Given the description of an element on the screen output the (x, y) to click on. 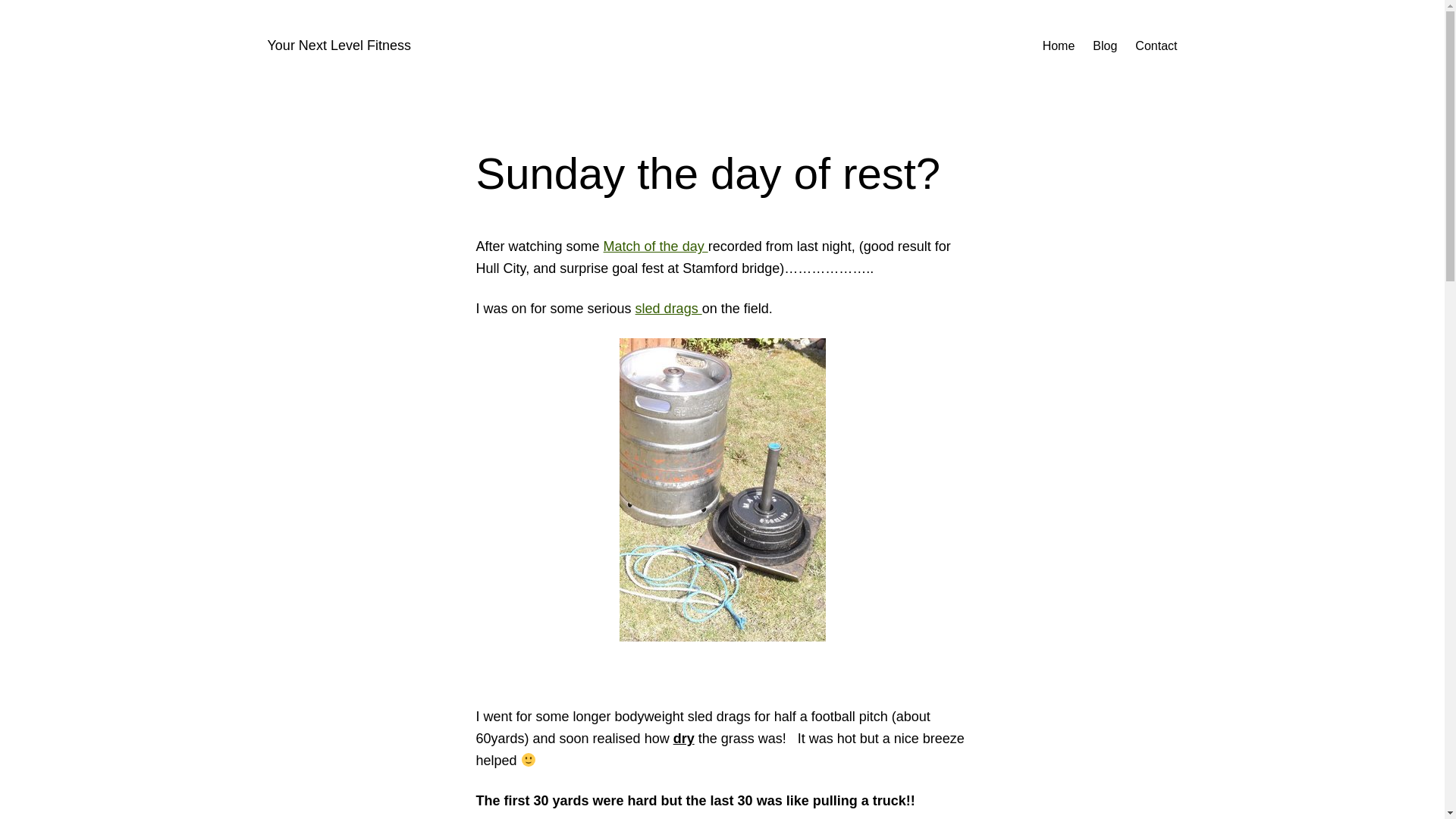
Home (1058, 46)
Match of the day lose weight hull (655, 246)
Match of the day (655, 246)
sled drags (667, 308)
sled drag  weight loss hull (667, 308)
Blog (1104, 46)
Contact (1155, 46)
Your Next Level Fitness (338, 45)
